Given the description of an element on the screen output the (x, y) to click on. 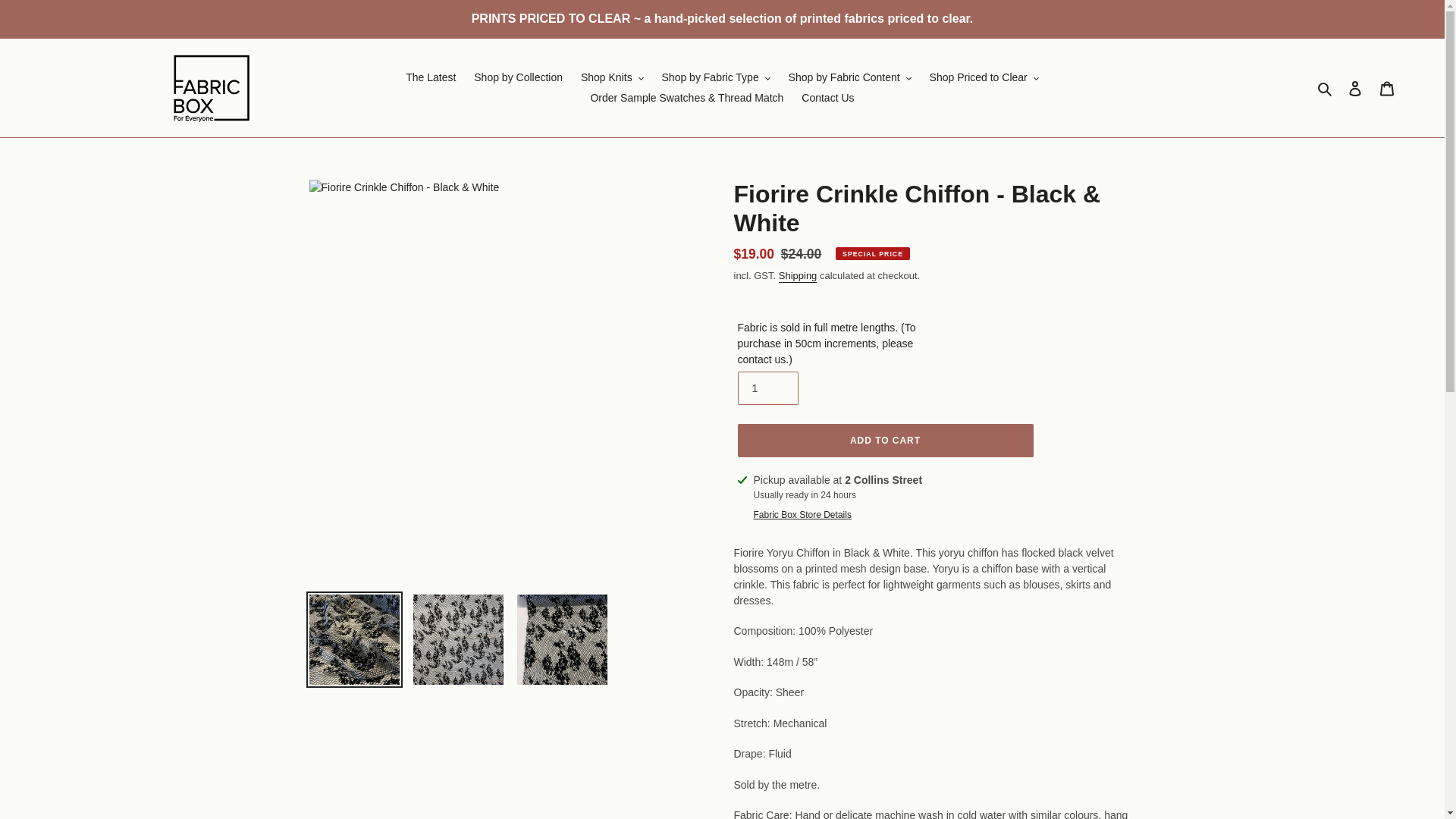
The Latest (430, 77)
Shop Knits (611, 77)
Shop by Fabric Content (849, 77)
1 (766, 387)
Shop by Fabric Type (715, 77)
Shop by Collection (517, 77)
